Given the description of an element on the screen output the (x, y) to click on. 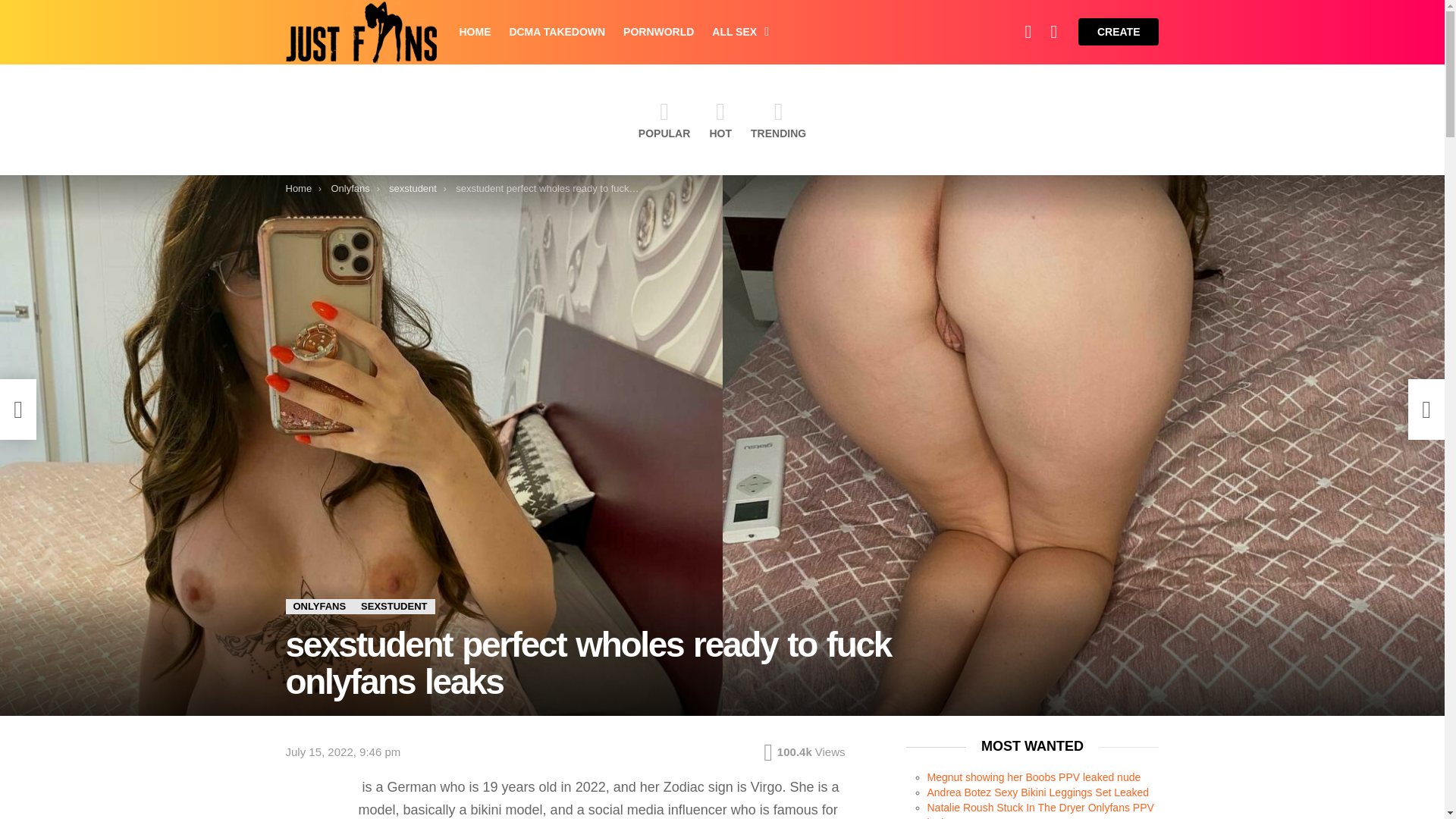
HOT (719, 119)
HOME (475, 31)
Home (298, 188)
DCMA TAKEDOWN (556, 31)
TRENDING (777, 119)
sexstudent (412, 188)
ALL SEX (736, 31)
ONLYFANS (319, 606)
CREATE (1118, 31)
SEARCH (1027, 31)
PORNWORLD (658, 31)
LOGIN (1053, 31)
Onlyfans (349, 188)
POPULAR (663, 119)
SEXSTUDENT (393, 606)
